Given the description of an element on the screen output the (x, y) to click on. 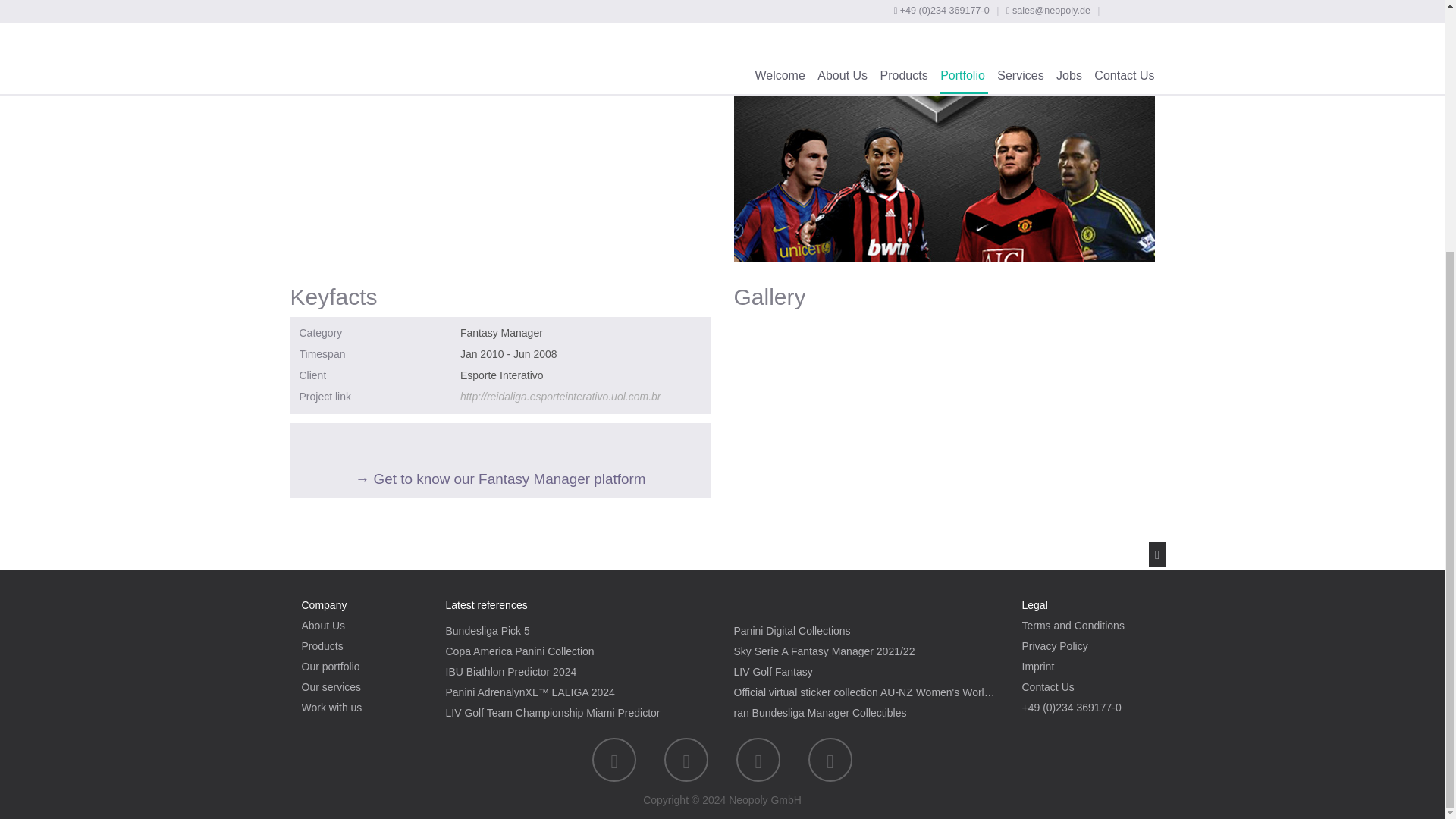
IBU Biathlon Predictor 2024 (510, 671)
Contact Us (1048, 686)
Panini Digital Collections (791, 630)
Copa America Panini Collection (519, 651)
Bundesliga Pick 5 (487, 630)
Products (322, 645)
Terms and Conditions (1073, 625)
Get to know our Fantasy Manager platform (499, 457)
About Us (323, 625)
